Given the description of an element on the screen output the (x, y) to click on. 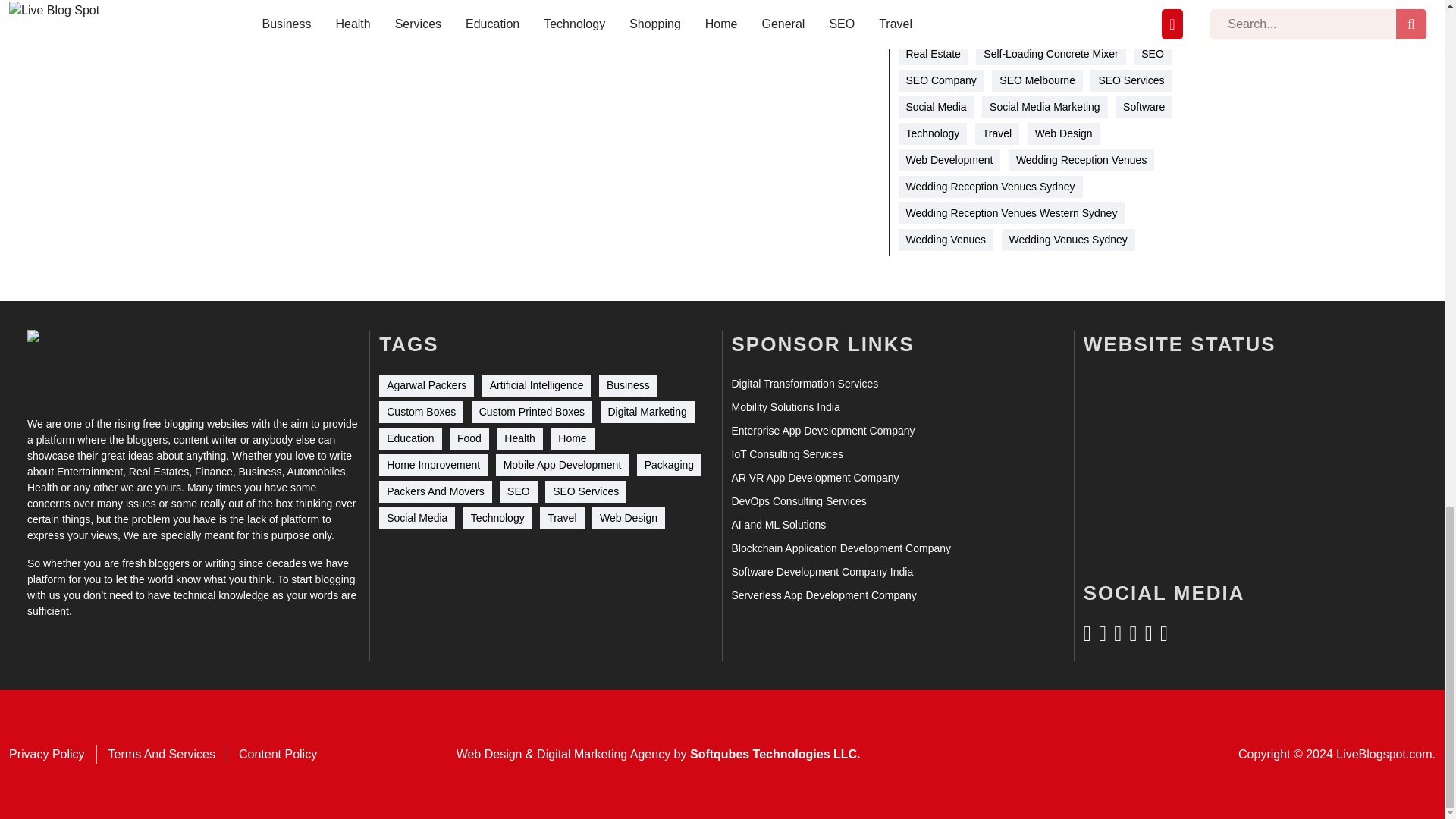
Mobility Solutions India (785, 407)
IoT Consulting Services (786, 454)
Digital Transformation Services (803, 383)
Enterprise App Development Company (822, 430)
DevOps Consulting Services (798, 501)
Live Blog Spot (81, 363)
AR VR App Development Company (814, 478)
AI and ML Solutions (777, 524)
